Given the description of an element on the screen output the (x, y) to click on. 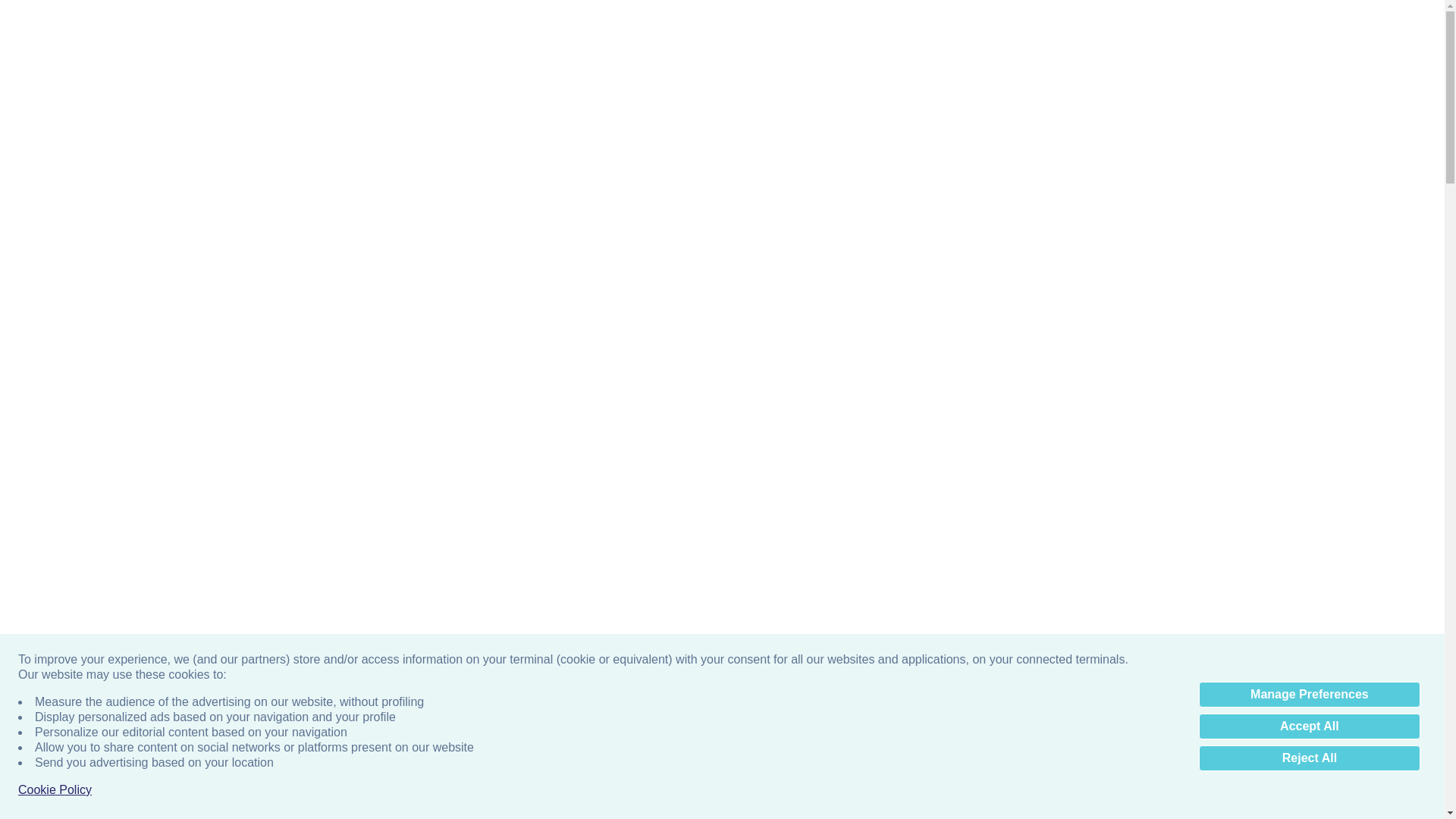
Manage Preferences (1309, 694)
Reject All (1309, 758)
Cookie Policy (54, 789)
Accept All (1309, 726)
